Given the description of an element on the screen output the (x, y) to click on. 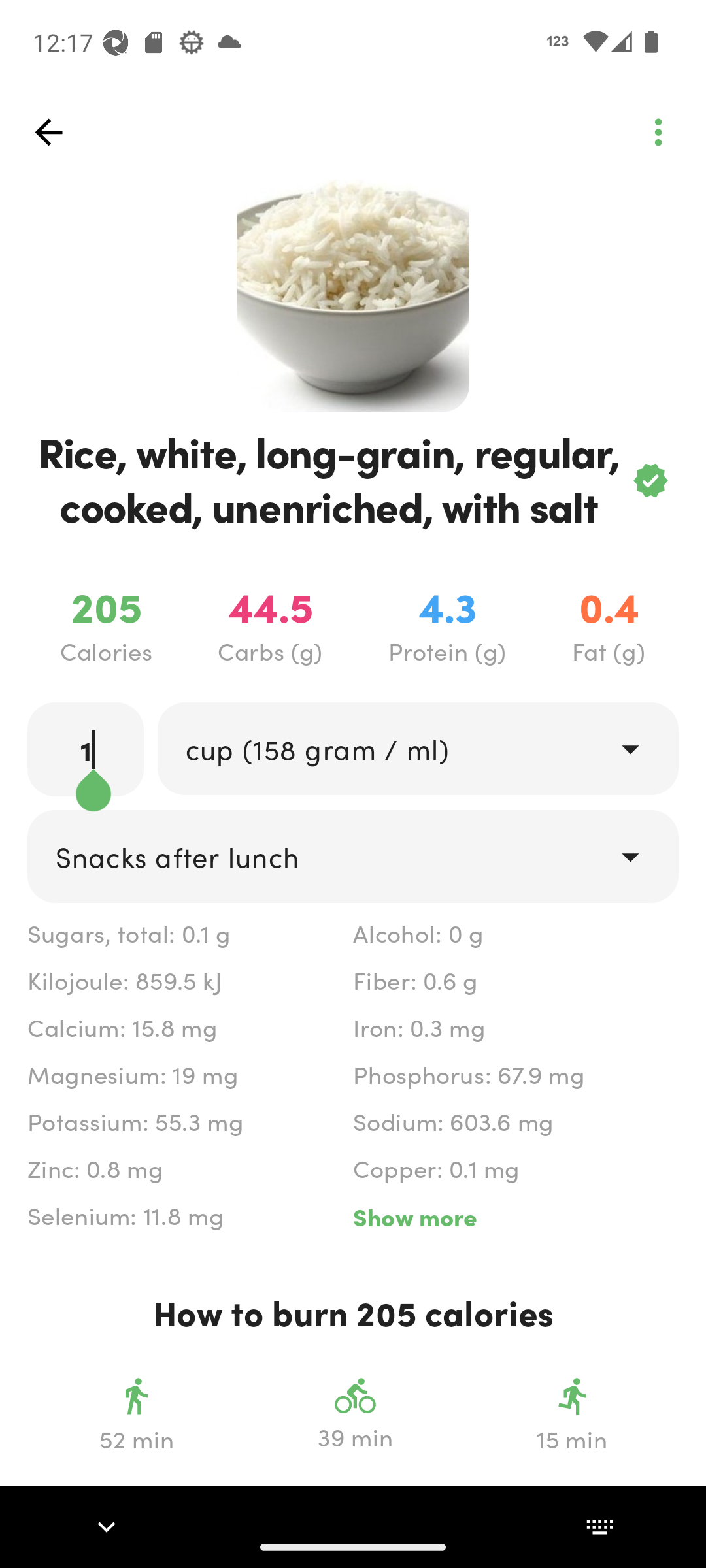
top_left_action (48, 132)
top_left_action (658, 132)
1 labeled_edit_text (85, 749)
drop_down cup (158 gram / ml) (417, 748)
drop_down Snacks after lunch (352, 856)
Show more (515, 1216)
